Given the description of an element on the screen output the (x, y) to click on. 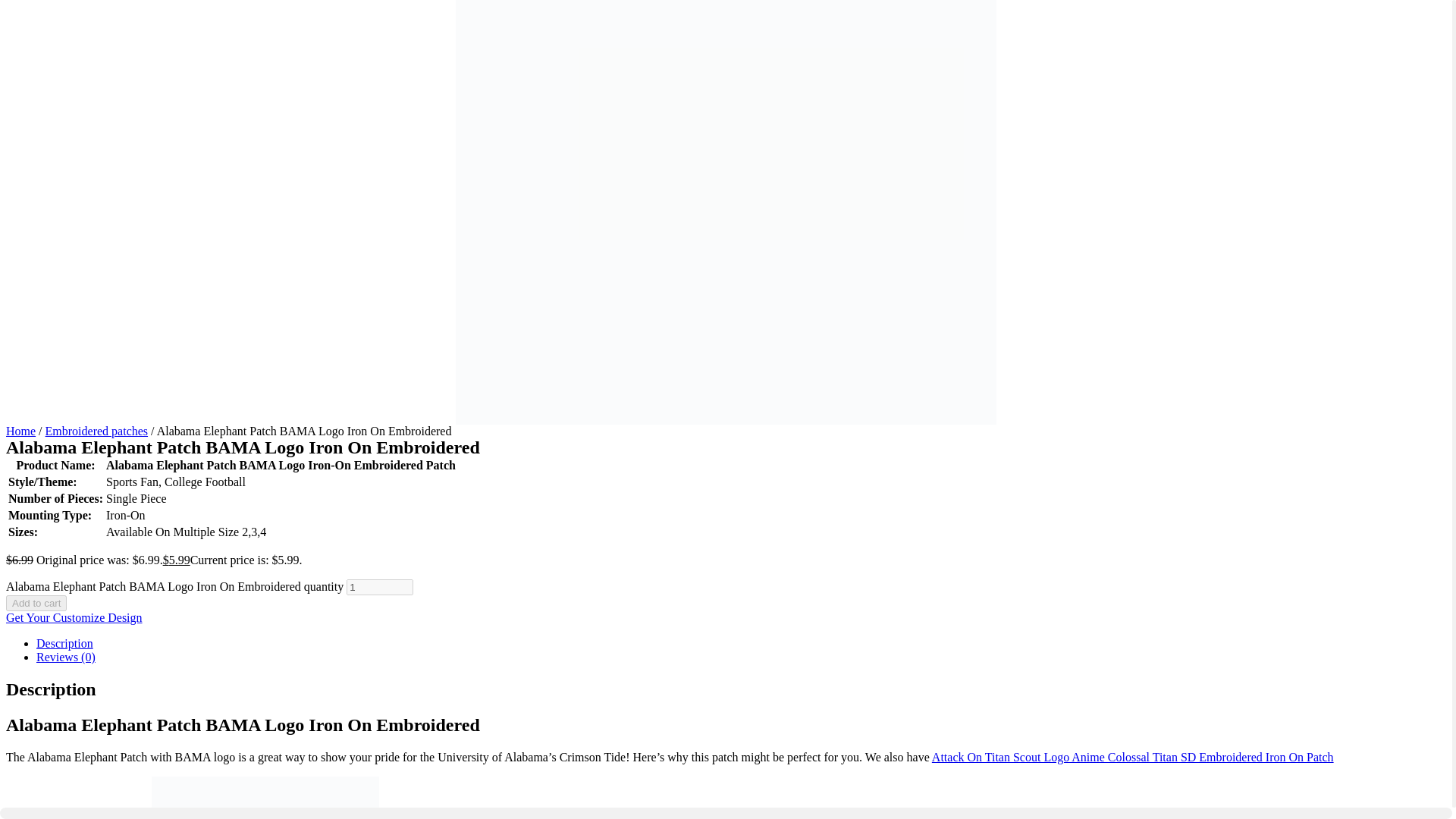
Alabama Elephant Patch BAMA Logo Iron On Embroidered 1 (264, 797)
1 (379, 587)
Add to cart (35, 602)
Home (19, 431)
Embroidered patches (96, 431)
Description (64, 643)
Get Your Customize Design (73, 617)
